Given the description of an element on the screen output the (x, y) to click on. 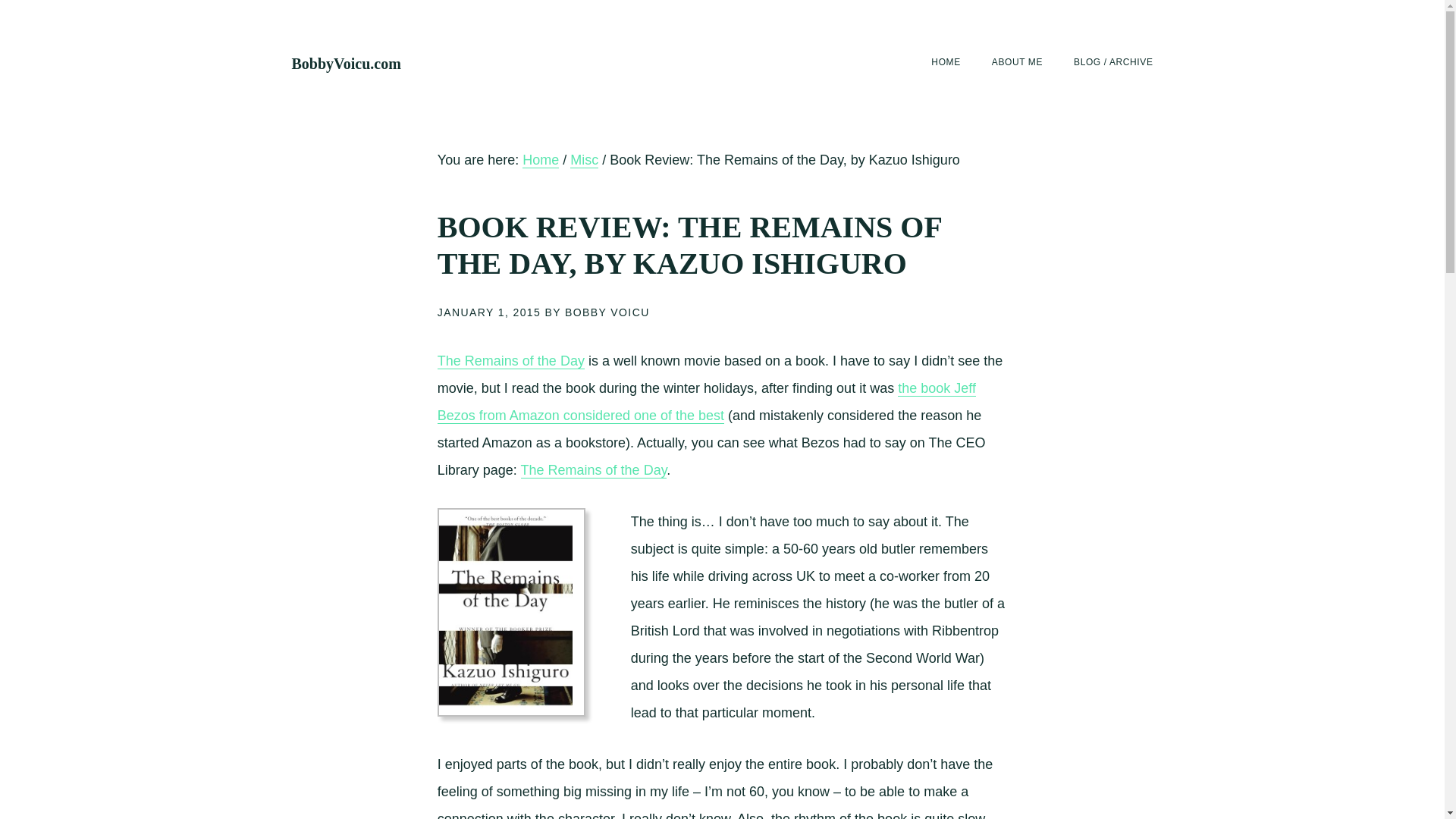
Home (540, 160)
the book Jeff Bezos from Amazon considered one of the best (706, 402)
ABOUT ME (1016, 62)
The Remains of the Day (511, 360)
BobbyVoicu.com (345, 63)
The Remains of the Day (593, 470)
Misc (584, 160)
